Given the description of an element on the screen output the (x, y) to click on. 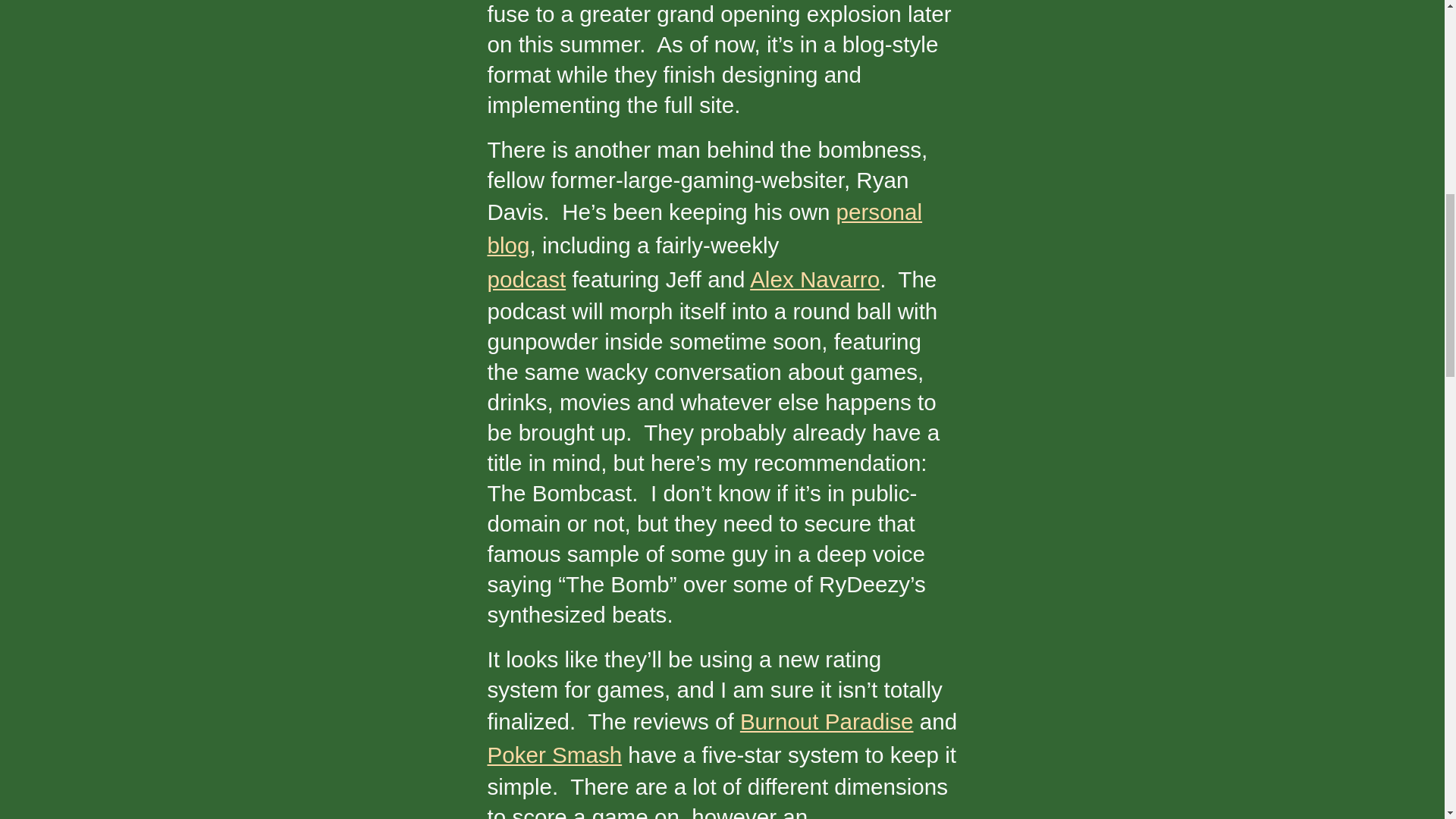
Poker Smash review (553, 754)
podcast (526, 278)
personal blog (703, 228)
Burnout Paradise (826, 721)
Poker Smash (553, 754)
Alex Navarro (814, 278)
Burnout Paradise (826, 721)
